Given the description of an element on the screen output the (x, y) to click on. 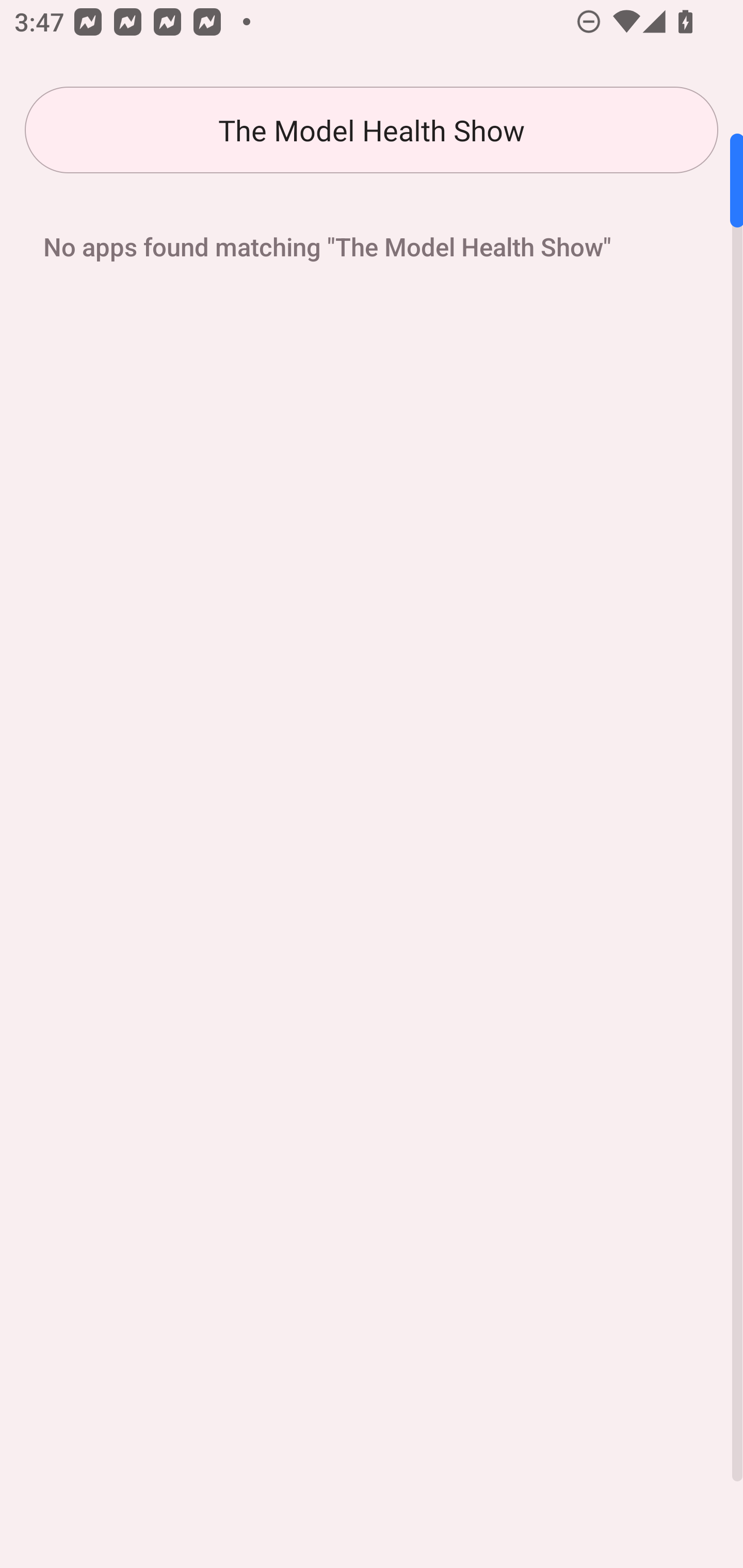
The Model Health Show (371, 130)
